Given the description of an element on the screen output the (x, y) to click on. 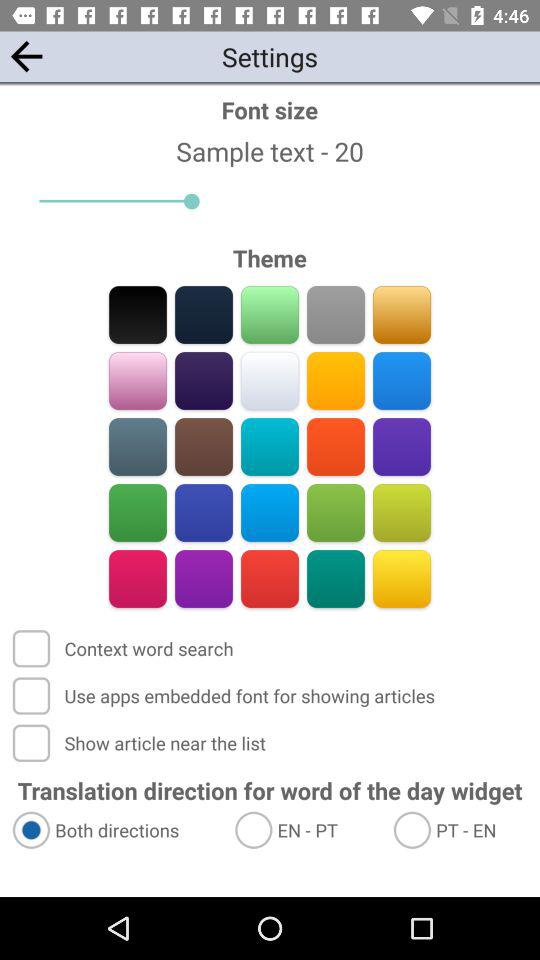
click the item below use apps embedded checkbox (141, 742)
